Given the description of an element on the screen output the (x, y) to click on. 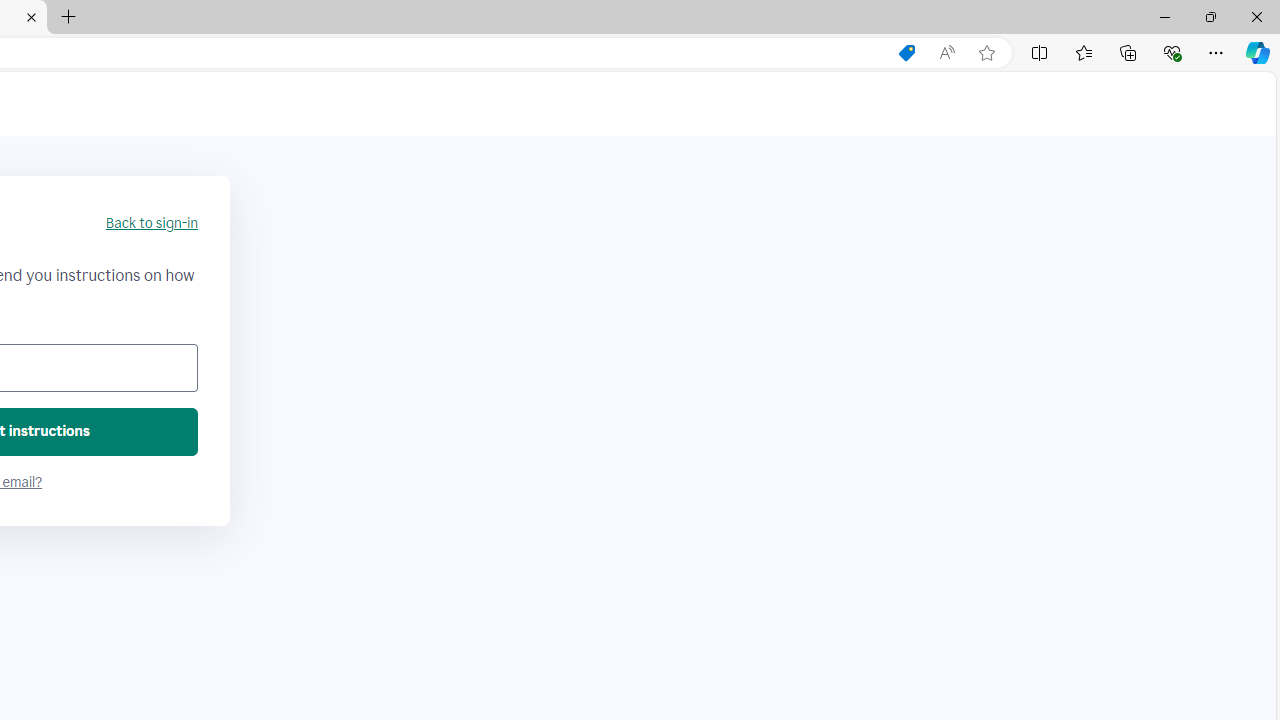
Back to sign-in (151, 223)
